Given the description of an element on the screen output the (x, y) to click on. 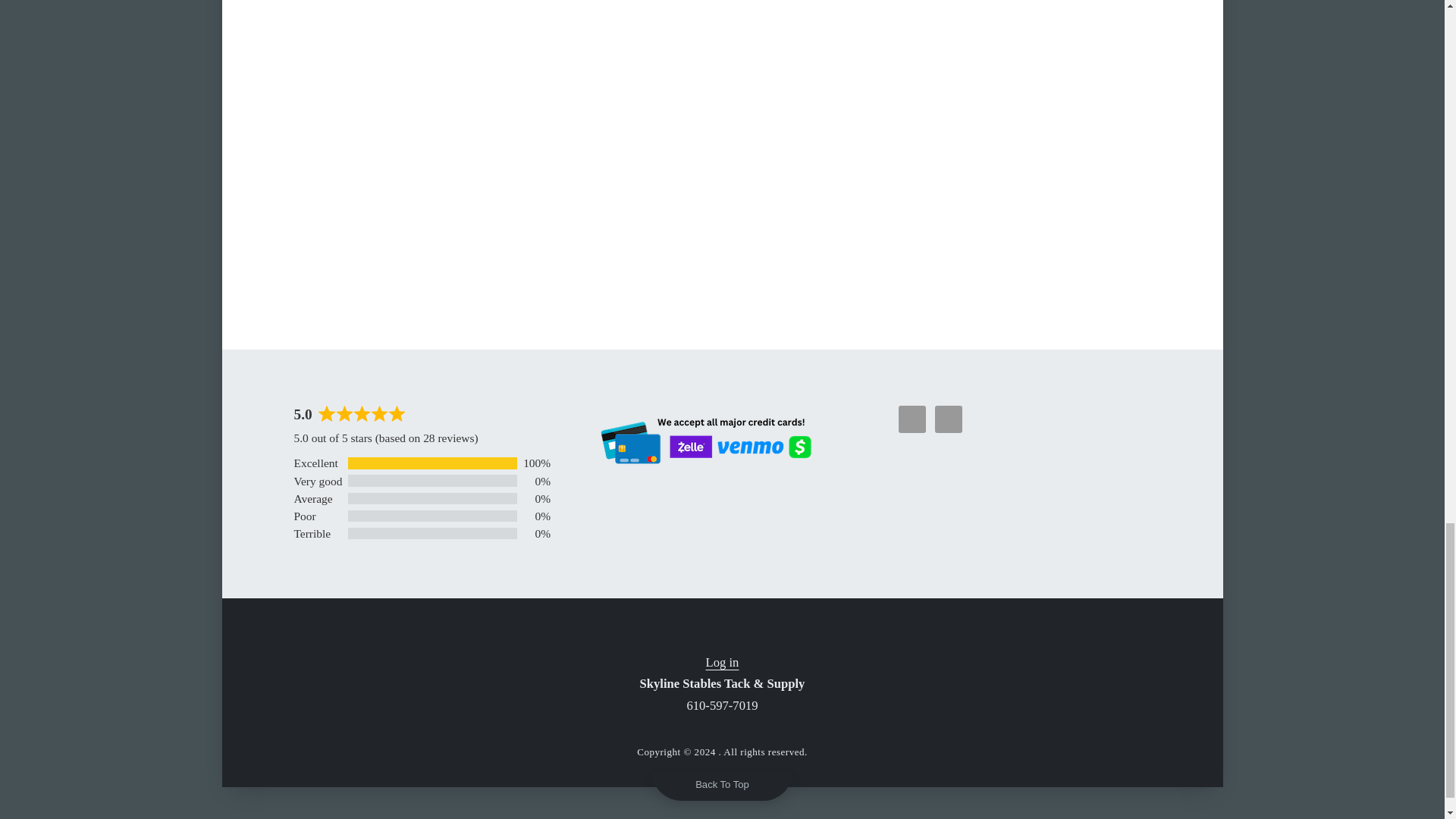
Log in (722, 662)
Back To Top (722, 784)
Back To Top (722, 784)
